Given the description of an element on the screen output the (x, y) to click on. 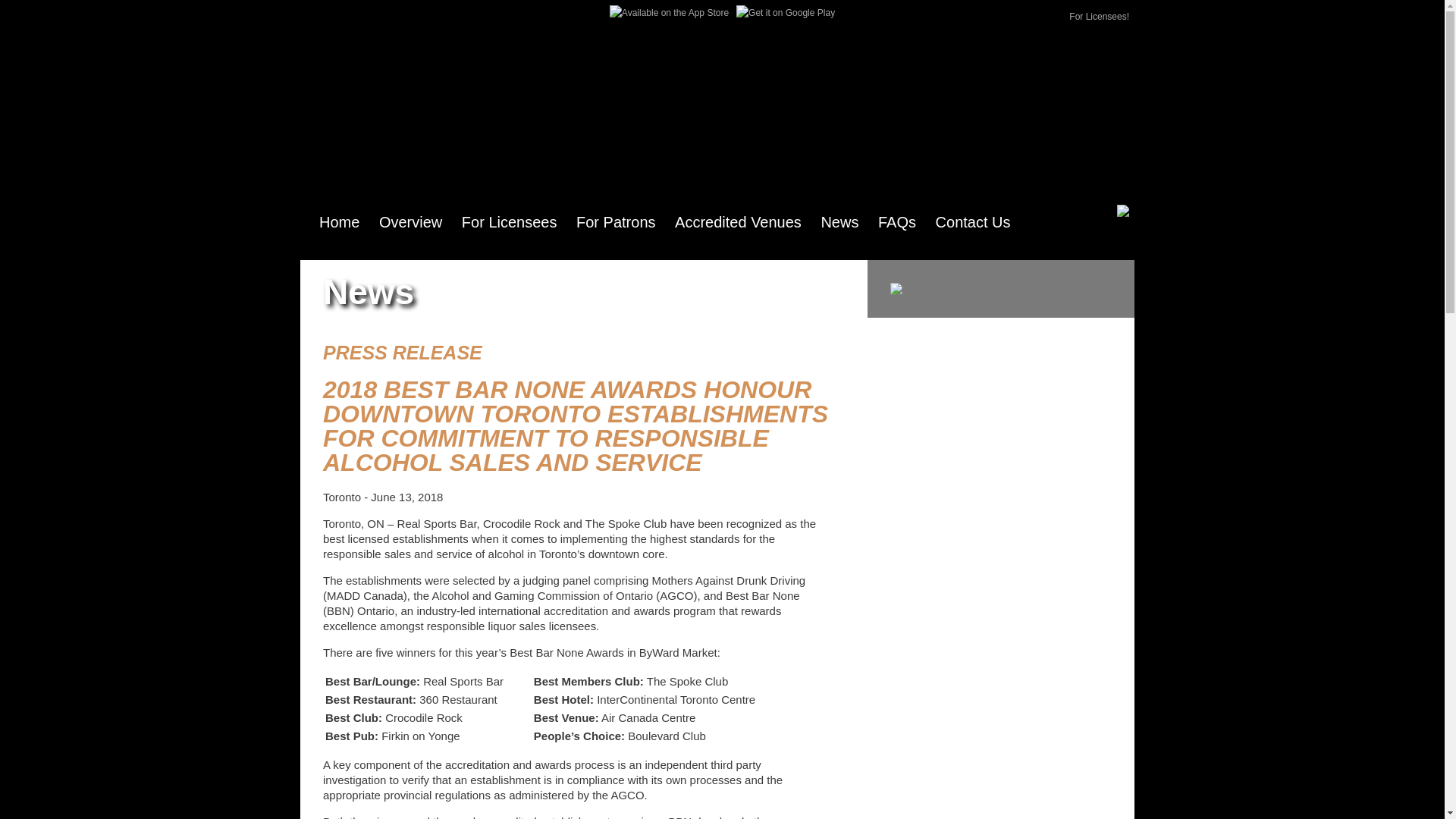
Visit ORHMA Element type: hover (1123, 210)
FAQs Element type: text (897, 221)
Get it on Google Play Element type: hover (785, 12)
Available on the App Store Element type: hover (668, 12)
Twitter Element type: hover (312, 16)
Contact Us Element type: text (972, 221)
For Patrons Element type: text (615, 221)
For Licensees Element type: text (509, 221)
Accredited Venues Element type: text (737, 221)
Facebook Element type: hover (335, 16)
For Licensees! Element type: text (1099, 16)
Overview Element type: text (410, 221)
News Element type: text (839, 221)
Home Element type: text (339, 221)
